Given the description of an element on the screen output the (x, y) to click on. 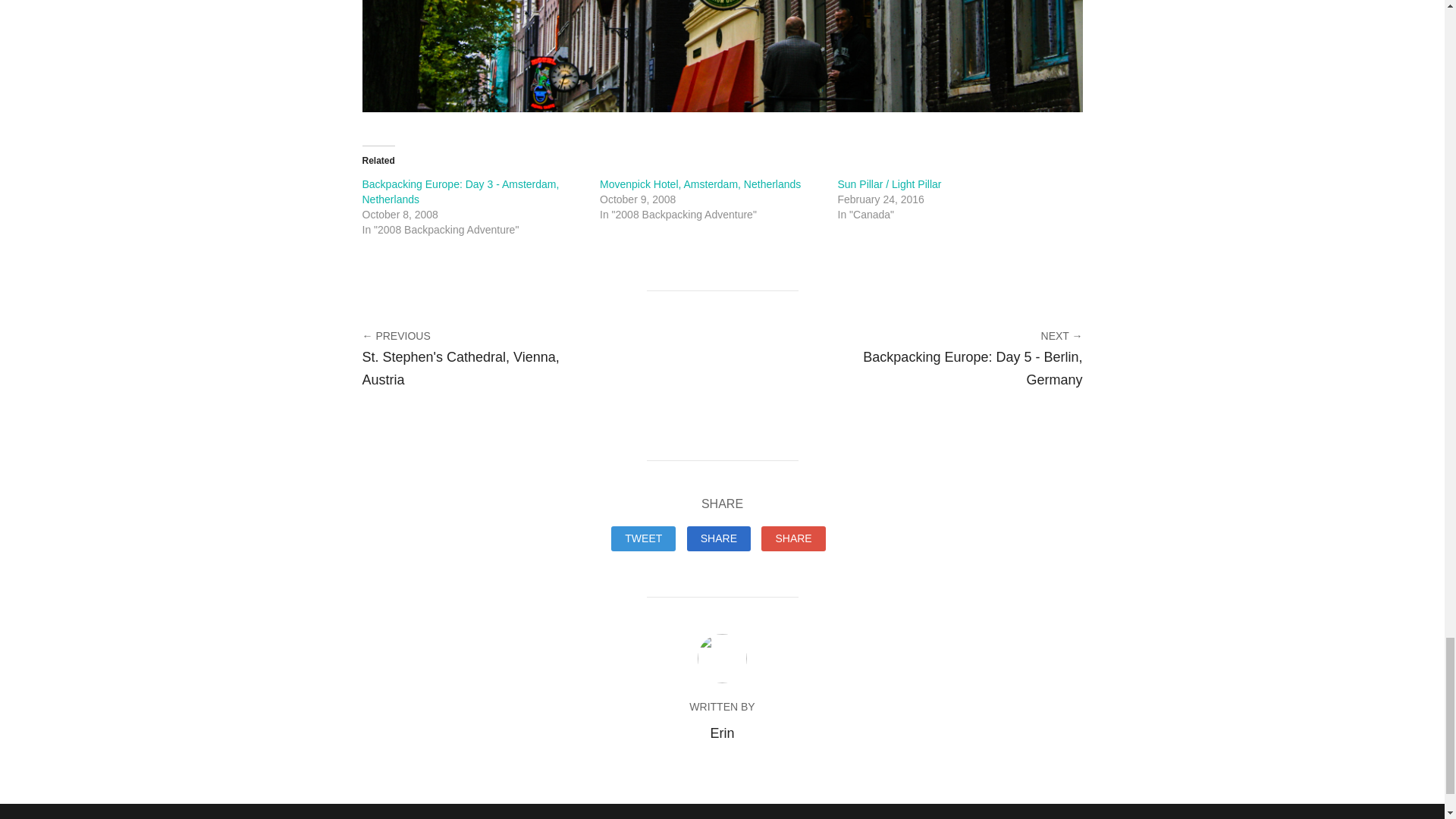
Share this on Facebook (719, 539)
Tweet this on Twitter (643, 539)
St. Stephen's Cathedral, Vienna, Austria (475, 368)
Backpacking Europe: Day 5 - Berlin, Germany (969, 368)
